Given the description of an element on the screen output the (x, y) to click on. 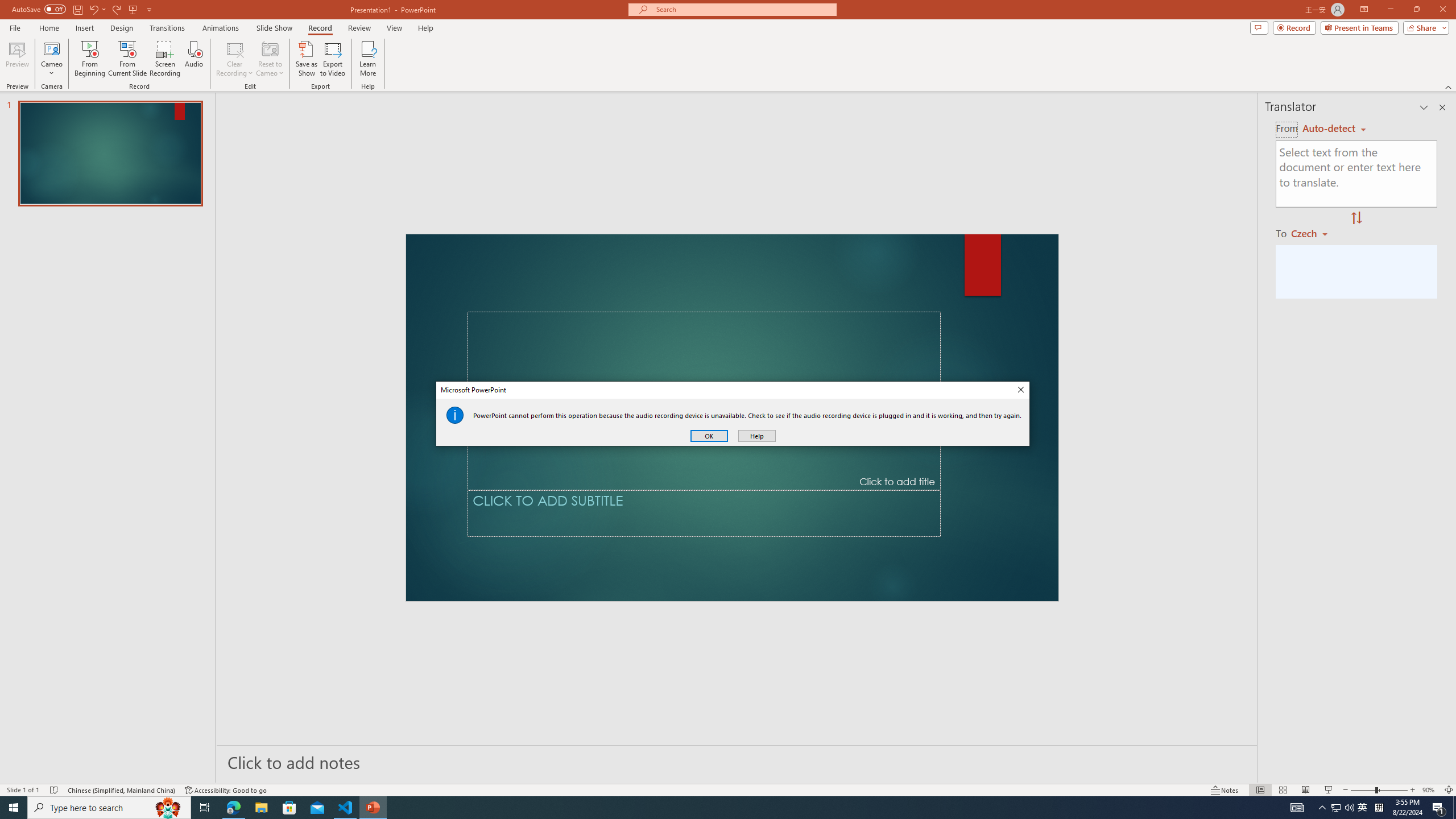
Auto-detect (1334, 128)
